Given the description of an element on the screen output the (x, y) to click on. 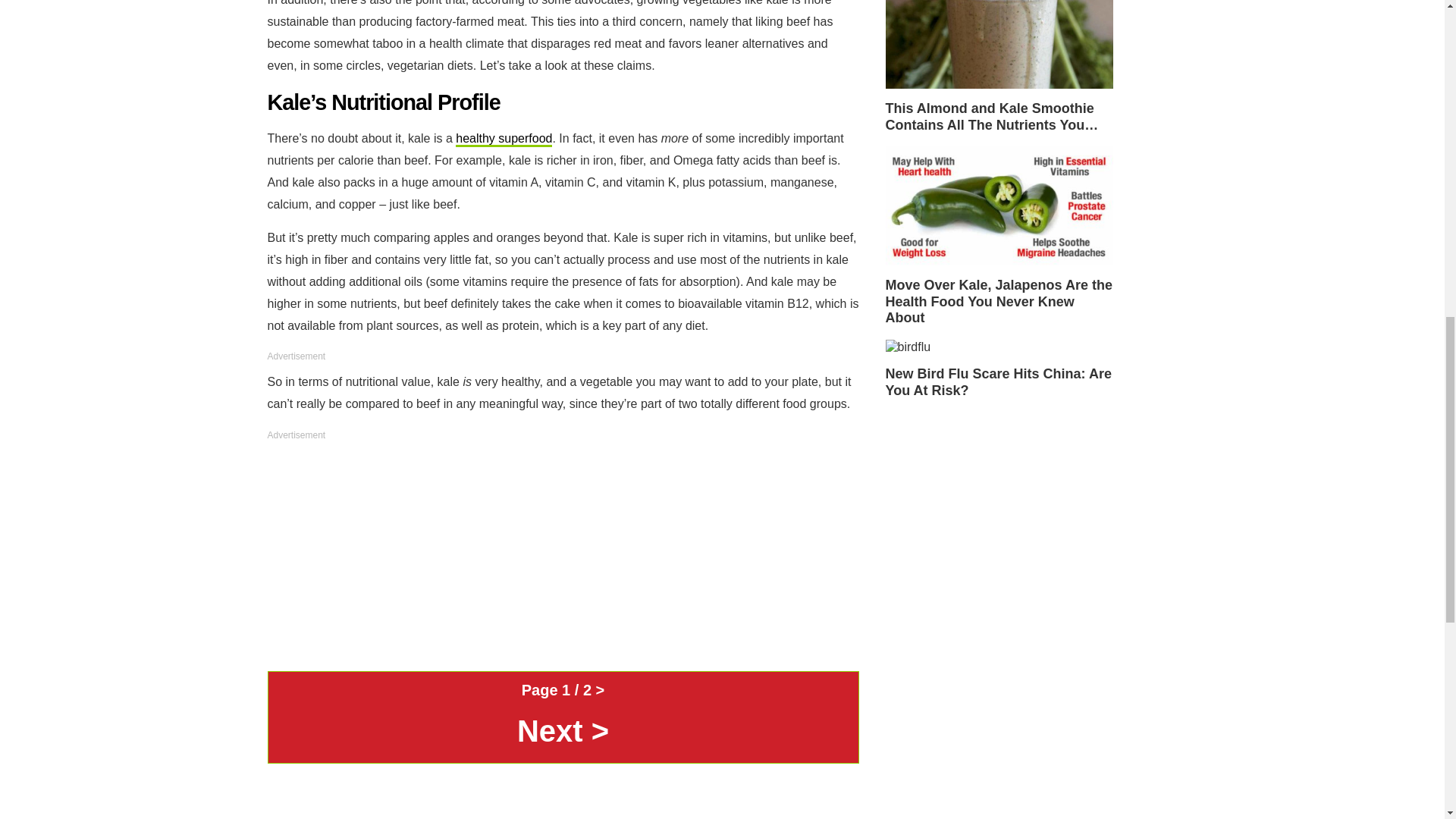
New Bird Flu Scare Hits China: Are You At Risk? (908, 346)
healthy superfood (503, 139)
New Bird Flu Scare Hits China: Are You At Risk? (999, 368)
